Given the description of an element on the screen output the (x, y) to click on. 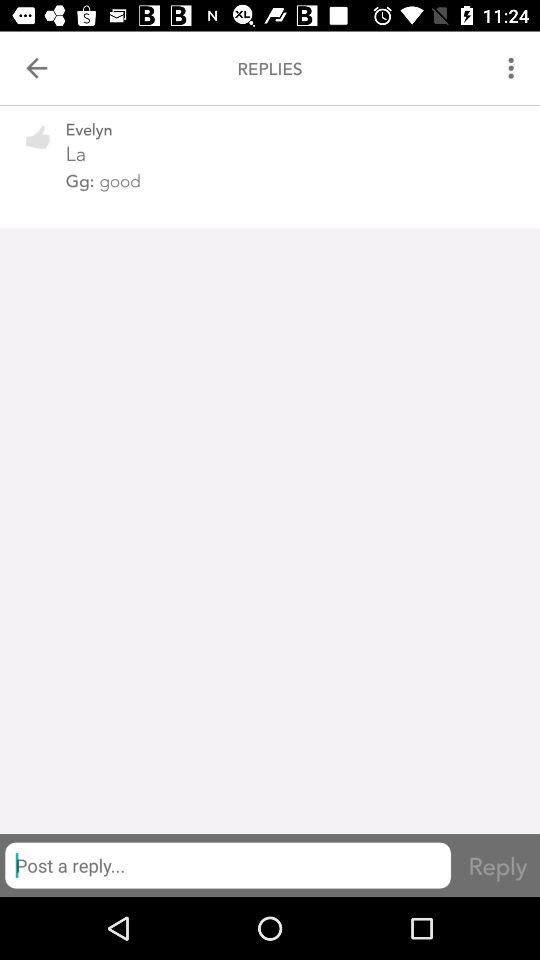
select icon next to the reply icon (227, 865)
